Given the description of an element on the screen output the (x, y) to click on. 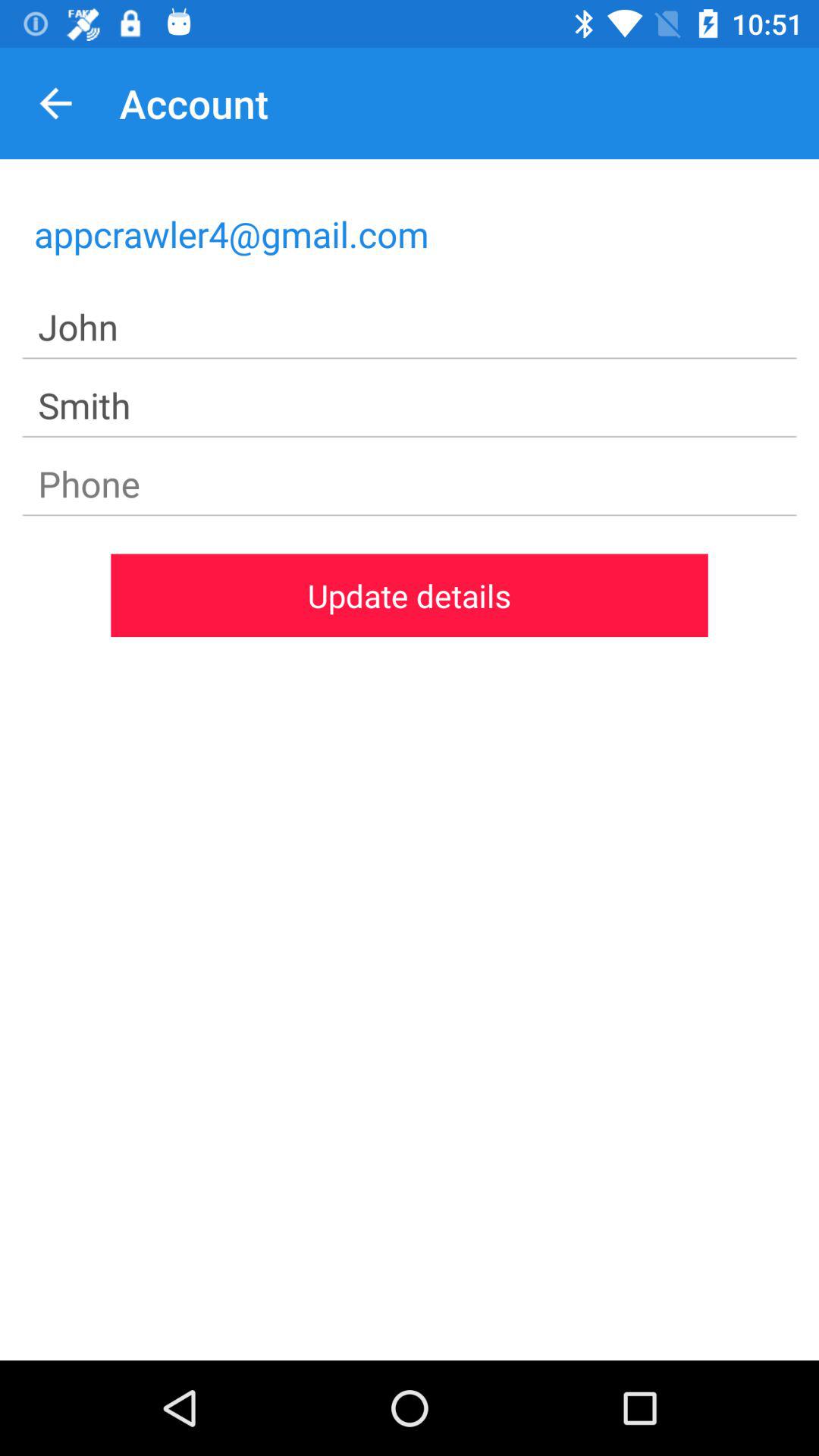
swipe until update details (409, 595)
